Given the description of an element on the screen output the (x, y) to click on. 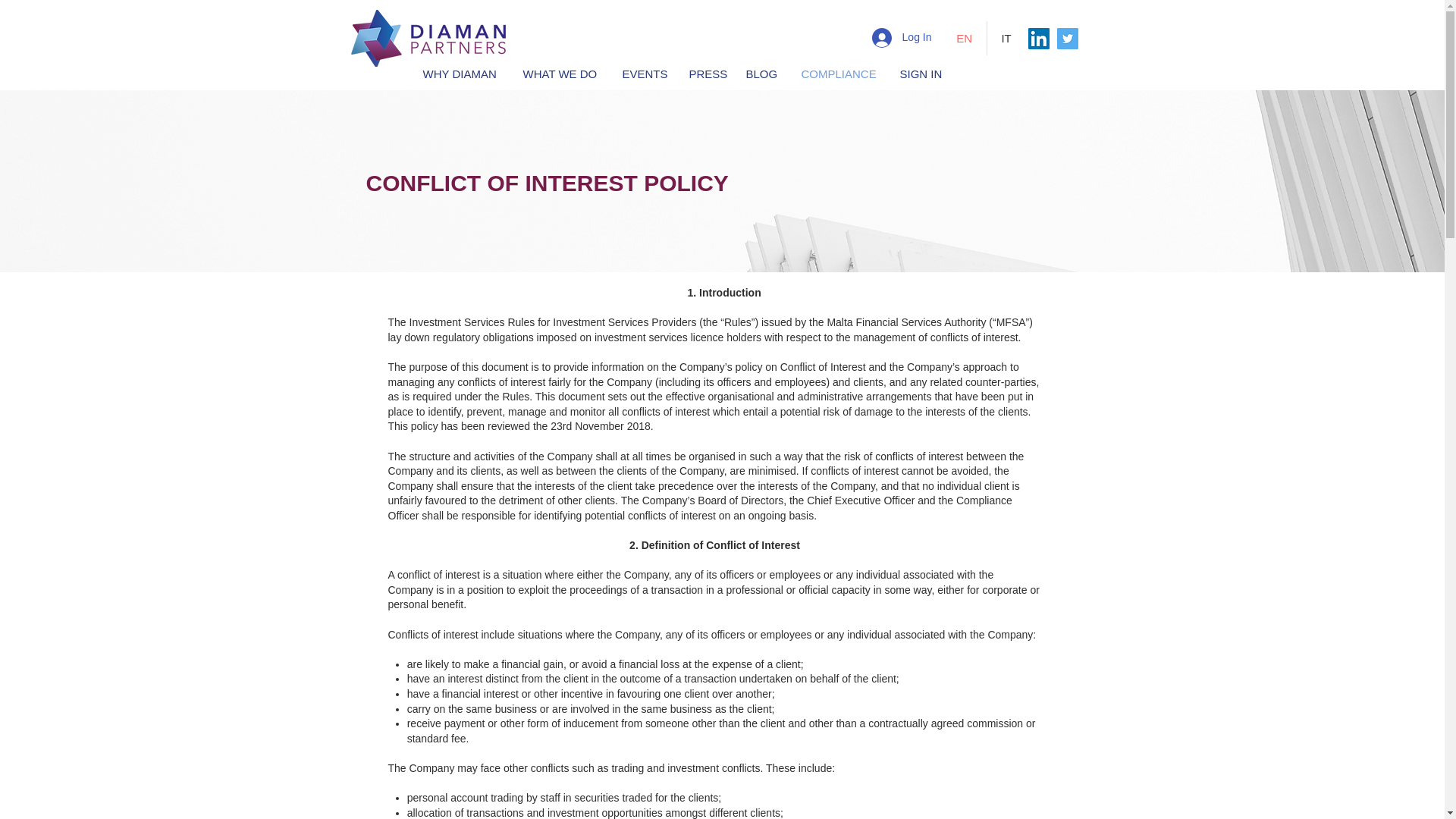
EN (963, 38)
IT (1006, 38)
EVENTS (644, 73)
ezgif-1-9b169b37bc55.png (431, 37)
WHY DIAMAN (460, 73)
PRESS (706, 73)
BLOG (761, 73)
SIGN IN (921, 73)
COMPLIANCE (839, 73)
Log In (901, 37)
WHAT WE DO (560, 73)
